Given the description of an element on the screen output the (x, y) to click on. 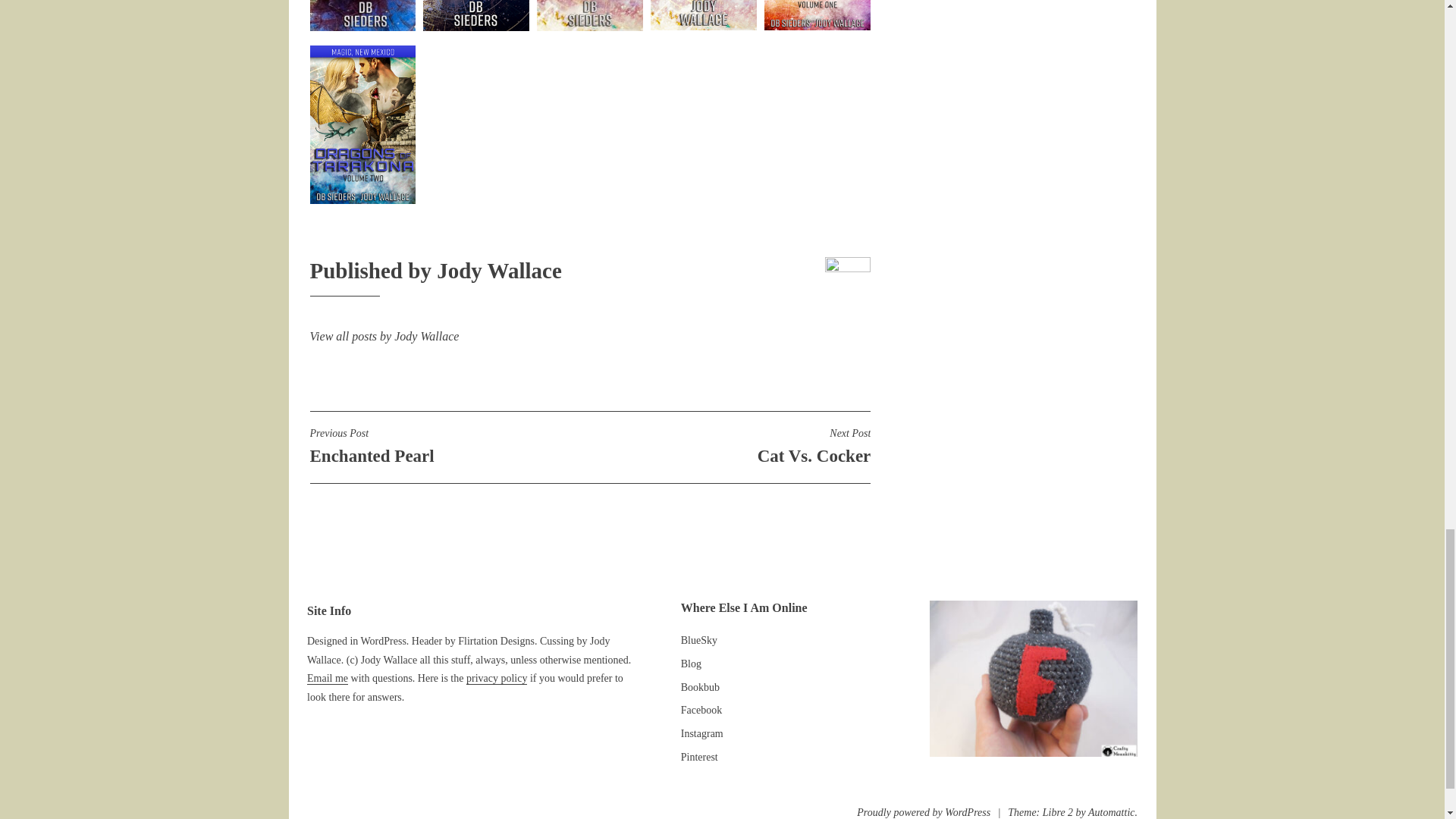
View all posts by Jody Wallace (448, 446)
